Given the description of an element on the screen output the (x, y) to click on. 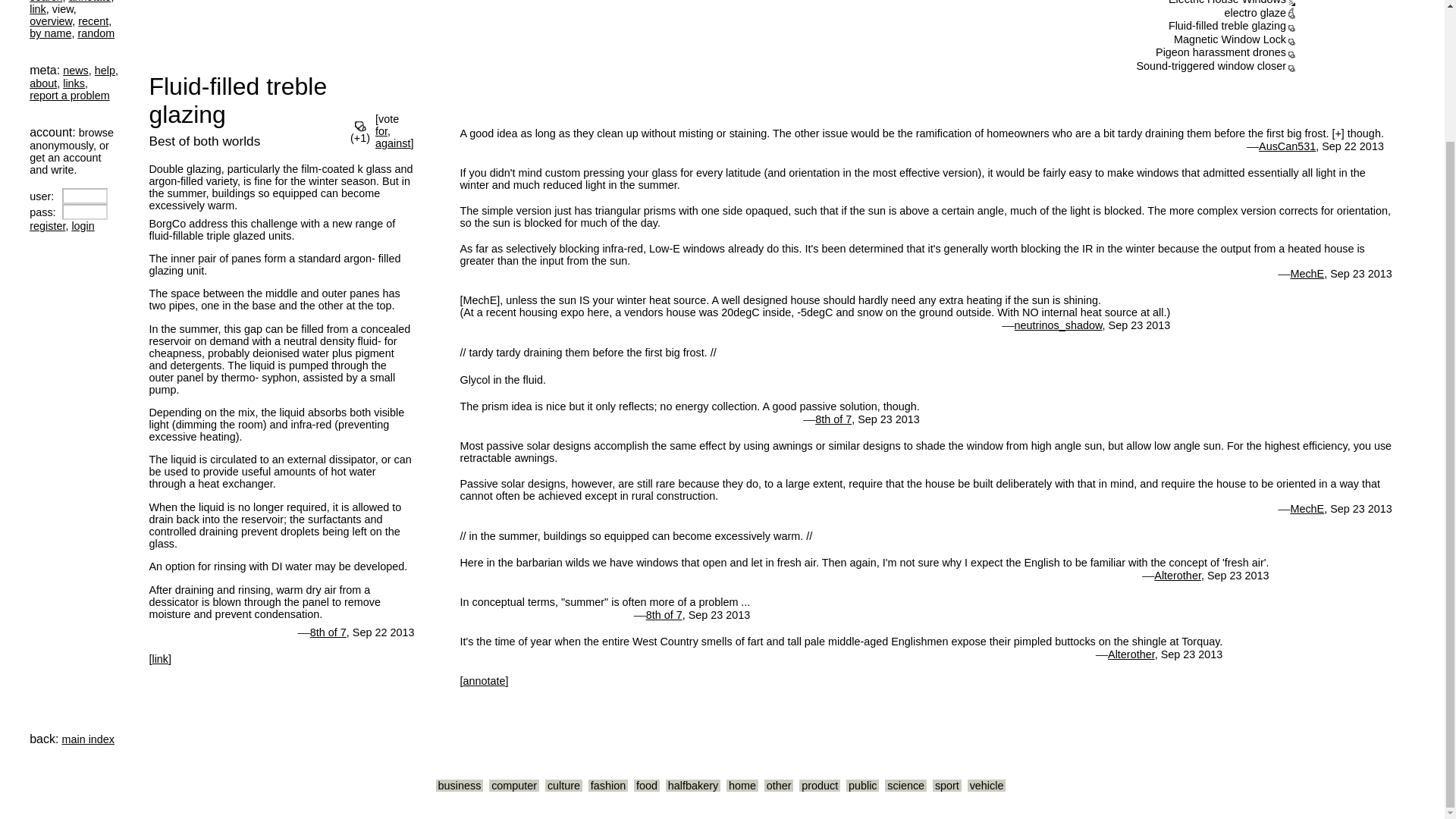
against (392, 143)
help (104, 70)
Pigeon harassment drones (1220, 51)
random (96, 33)
link (37, 9)
register (47, 225)
by name (50, 33)
login (82, 225)
news (75, 70)
Fluid-filled treble glazing (246, 110)
